Given the description of an element on the screen output the (x, y) to click on. 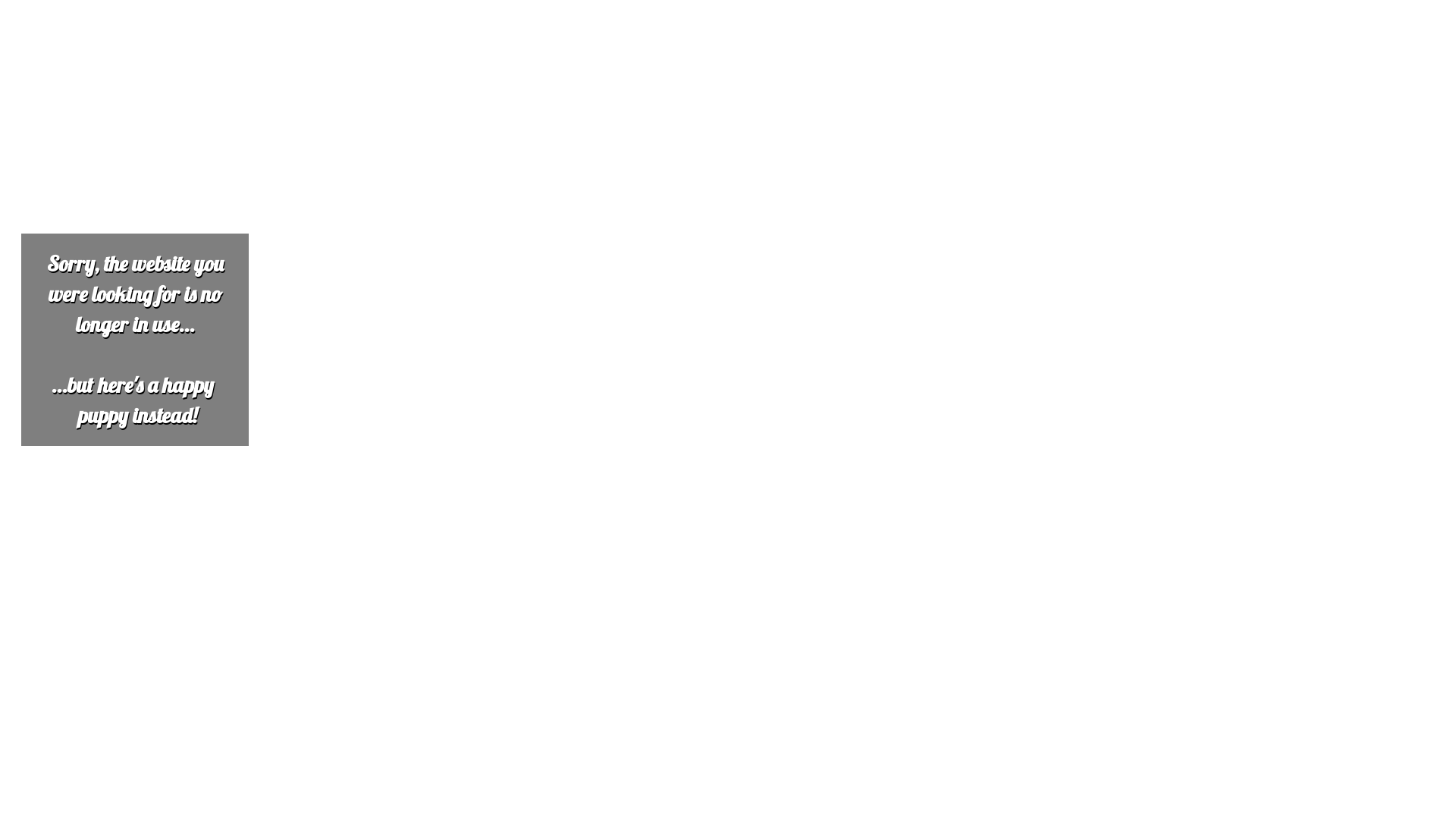
Advertisement Element type: hover (461, 112)
